Given the description of an element on the screen output the (x, y) to click on. 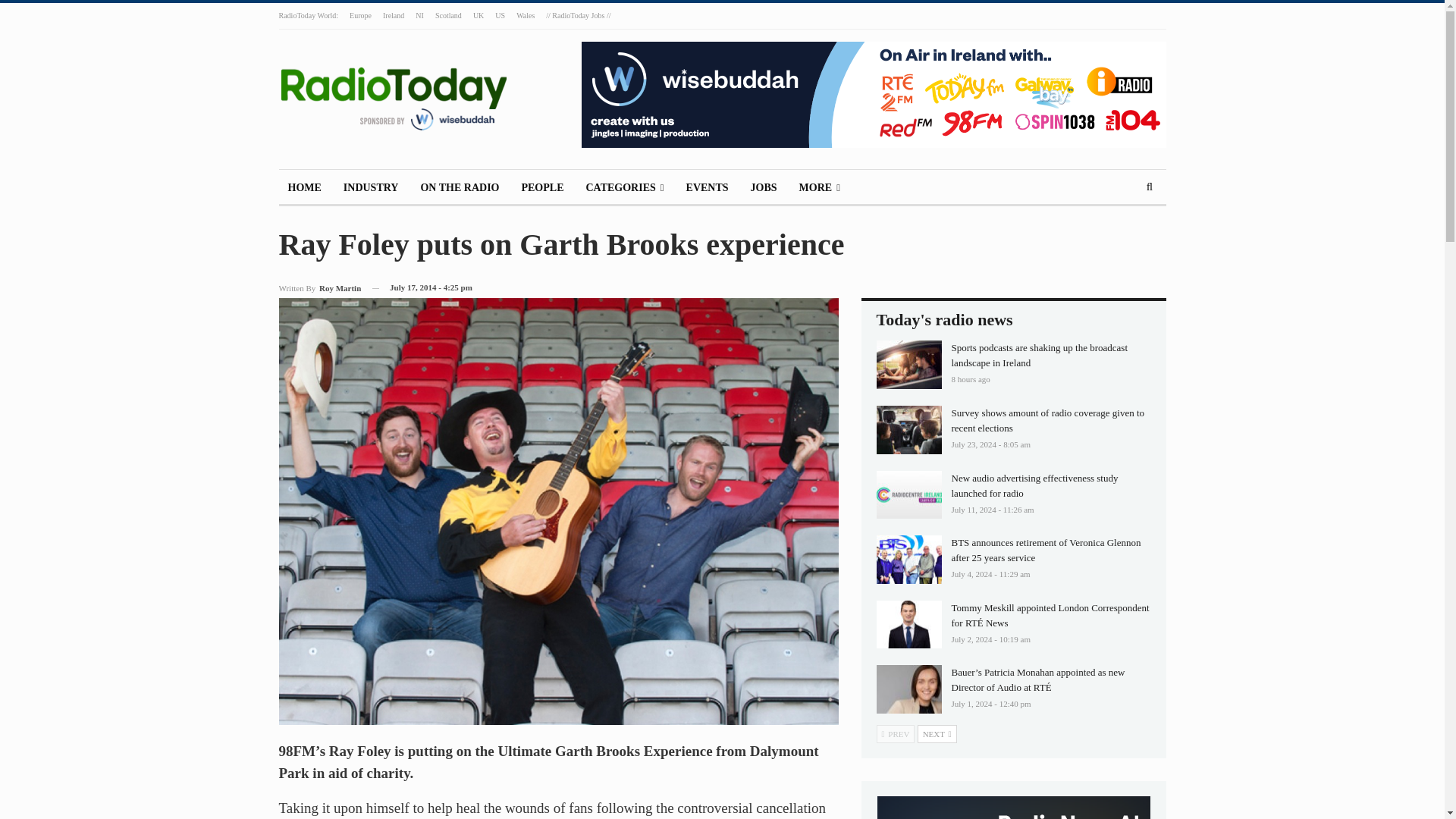
EVENTS (707, 187)
PEOPLE (542, 187)
RadioToday World: (309, 15)
Europe (360, 15)
Ireland (393, 15)
JOBS (763, 187)
INDUSTRY (370, 187)
ON THE RADIO (459, 187)
Browse Author Articles (320, 287)
Written By Roy Martin (320, 287)
HOME (304, 187)
CATEGORIES (624, 187)
UK (478, 15)
US (500, 15)
Wales (525, 15)
